Given the description of an element on the screen output the (x, y) to click on. 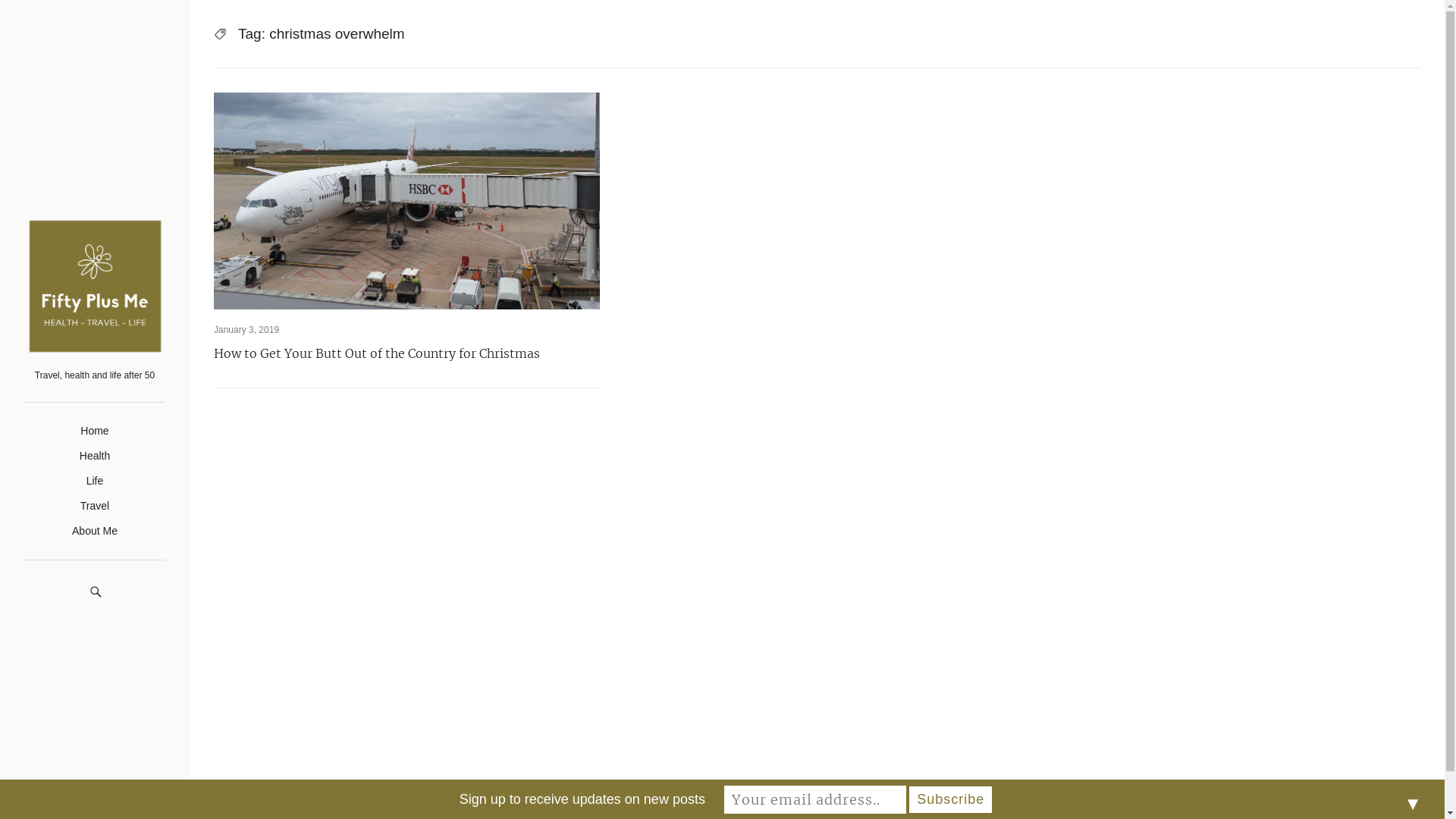
Health Element type: text (94, 455)
Home Element type: text (94, 430)
Life Element type: text (94, 480)
How to Get Your Butt Out of the Country for Christmas Element type: text (406, 353)
How to Get Your Butt Out of the Country for Christmas Element type: hover (406, 200)
Travel Element type: text (94, 505)
About Me Element type: text (94, 530)
Fifty Plus Me Element type: text (832, 798)
Subscribe Element type: text (950, 798)
